Given the description of an element on the screen output the (x, y) to click on. 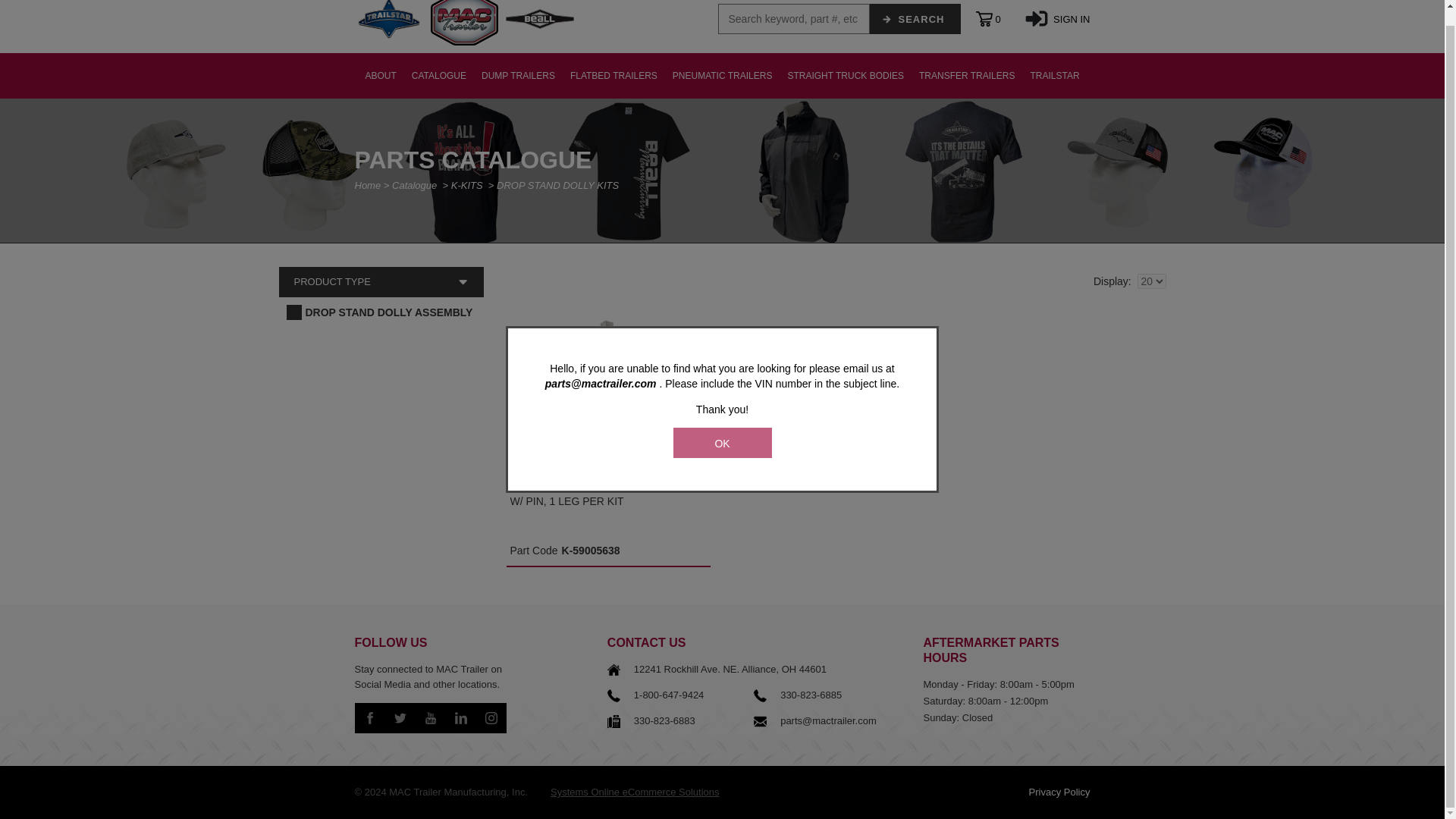
330-823-6883 (664, 720)
ABOUT (379, 75)
Shopping Cart (996, 18)
DUMP TRAILERS (518, 75)
330-823-6885 (810, 694)
STRAIGHT TRUCK BODIES (844, 75)
FLATBED TRAILERS (613, 75)
 SIGN IN (1057, 18)
Systems Online eCommerce Solutions (634, 791)
Privacy Policy (1059, 791)
